Given the description of an element on the screen output the (x, y) to click on. 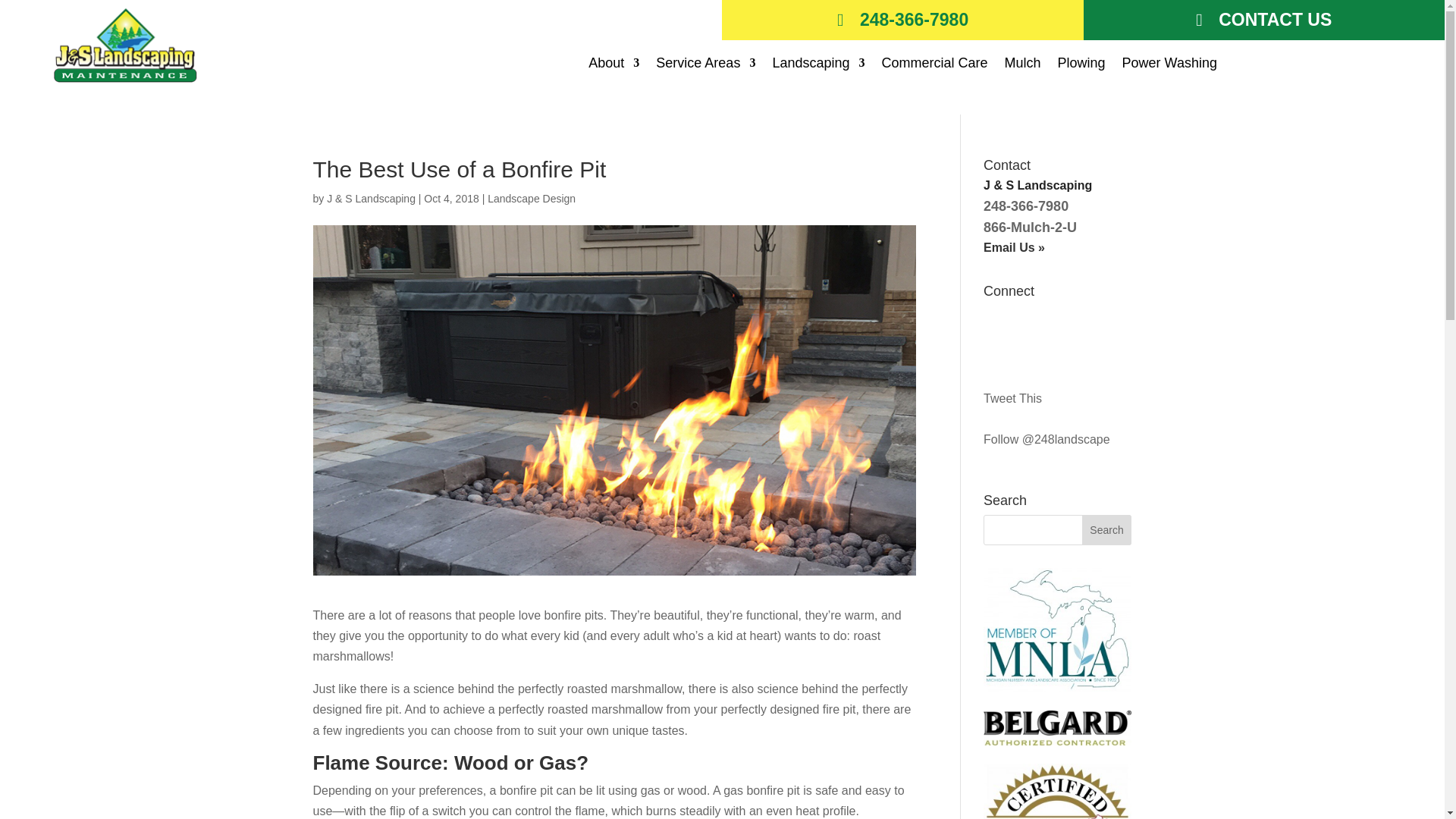
Plowing (1081, 65)
248-366-7980 (902, 20)
248-366-7980 (1026, 206)
J and S Landscaping LOGO (124, 44)
Landscaping (817, 65)
Mulch (1022, 65)
Power Washing (1169, 65)
CONTACT US (1263, 20)
MNLA - Michigan Nursery and Landscape Association (1057, 686)
866-Mulch-2-U (1030, 227)
Commercial Care (933, 65)
About (613, 65)
Search (1106, 530)
Service Areas (705, 65)
